Given the description of an element on the screen output the (x, y) to click on. 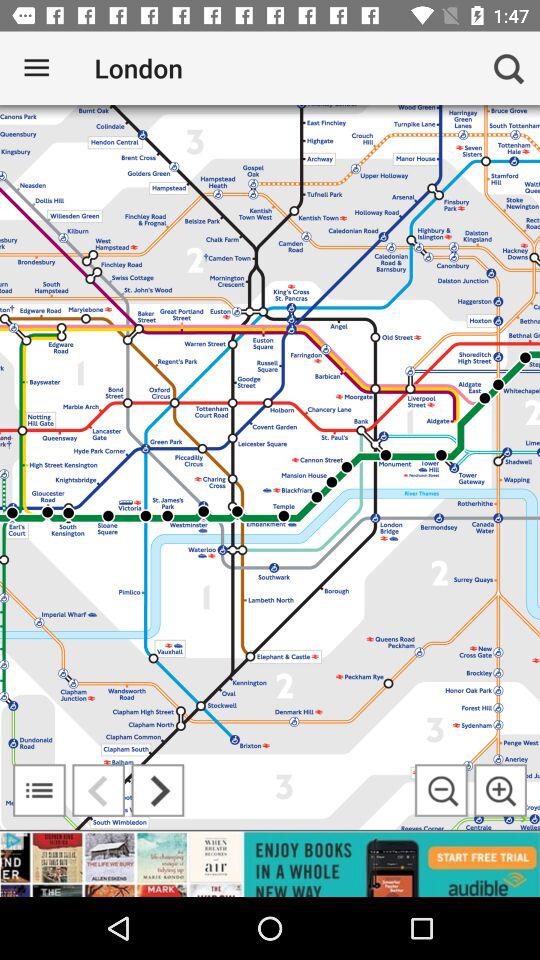
view all options (39, 790)
